Given the description of an element on the screen output the (x, y) to click on. 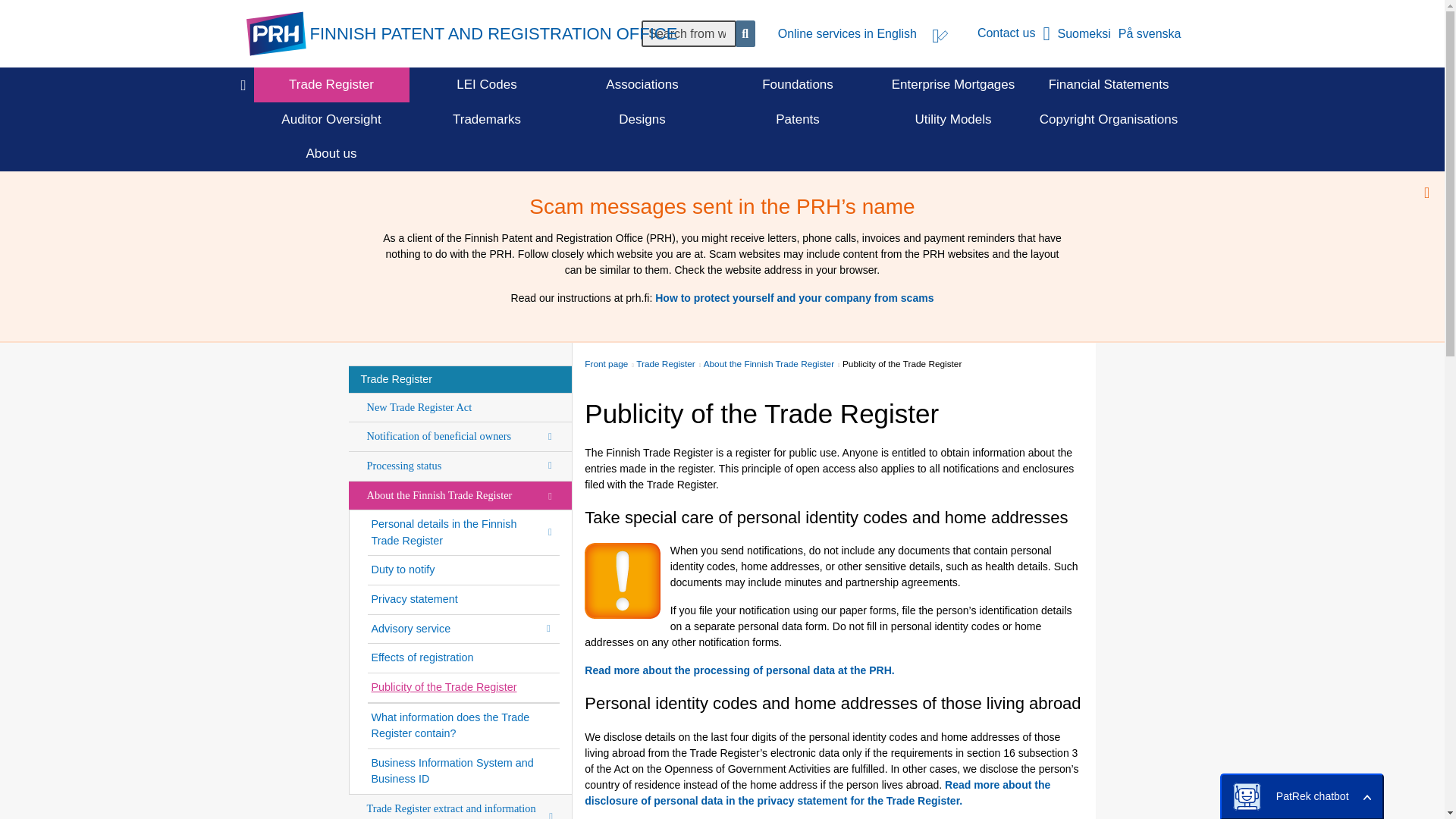
LEI Codes (486, 84)
Associations (642, 84)
Trademarks (486, 118)
Trade Register (460, 379)
Trade Register (331, 84)
Auditor Oversight (331, 118)
How to protect yourself and your company from scams (794, 297)
Huutomerkki (623, 580)
Designs (642, 118)
Utility Models (953, 118)
Patents (798, 118)
Contact us (1017, 33)
Enterprise Mortgages (953, 84)
Suomeksi (1088, 33)
New Trade Register Act (460, 407)
